Given the description of an element on the screen output the (x, y) to click on. 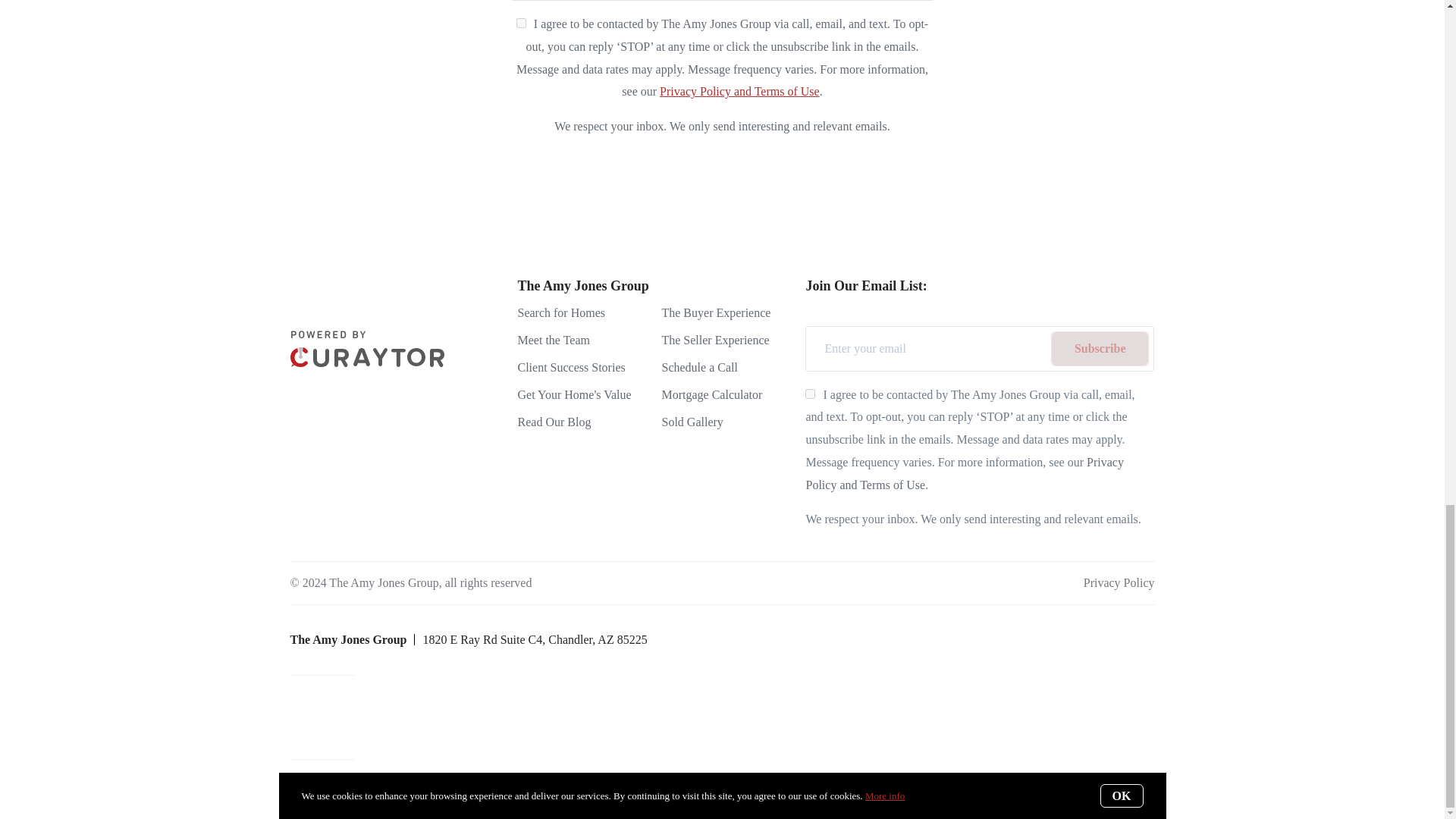
on (810, 393)
Search for Homes (560, 312)
Subscribe (1100, 348)
Sold Gallery (691, 421)
Read Our Blog (553, 421)
Meet the Team (552, 339)
Privacy Policy and Terms of Use (739, 91)
Get Your Home's Value (573, 394)
on (520, 22)
Schedule a Call (698, 367)
Mortgage Calculator (711, 394)
Privacy Policy and Terms of Use (963, 473)
The Buyer Experience (715, 312)
curaytor-horizontal (366, 348)
The Seller Experience (714, 339)
